Given the description of an element on the screen output the (x, y) to click on. 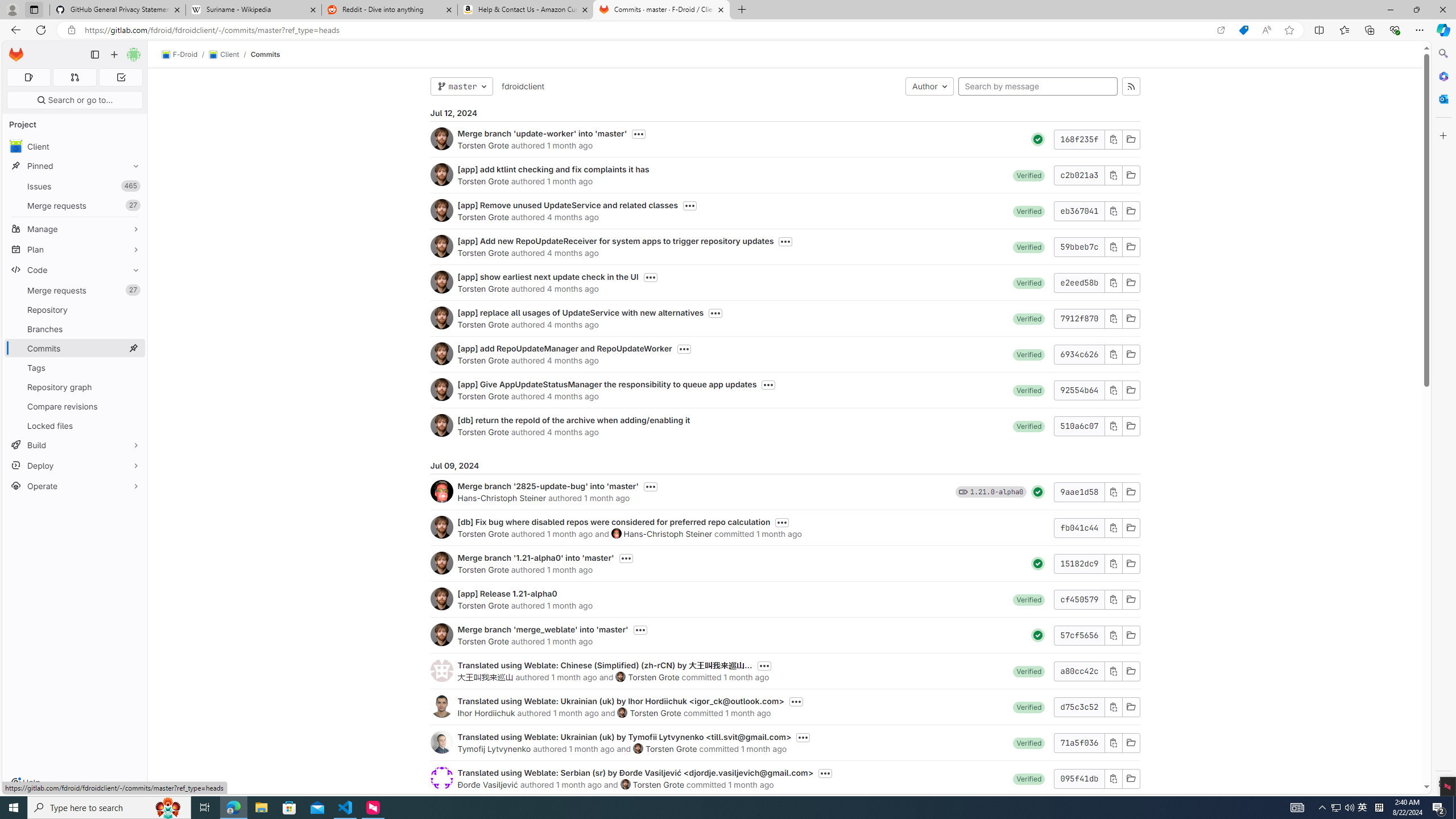
Client (223, 54)
Unpin Merge requests (132, 290)
Pin Locked files (132, 425)
Pin Compare revisions (132, 406)
Branches (74, 328)
Commits feed (1130, 85)
Hans-Christoph Steiner's avatar (616, 533)
1.21.0-alpha0 (996, 491)
Pin Branches (132, 328)
Issues465 (74, 185)
Torsten Grote's avatar (625, 783)
